Given the description of an element on the screen output the (x, y) to click on. 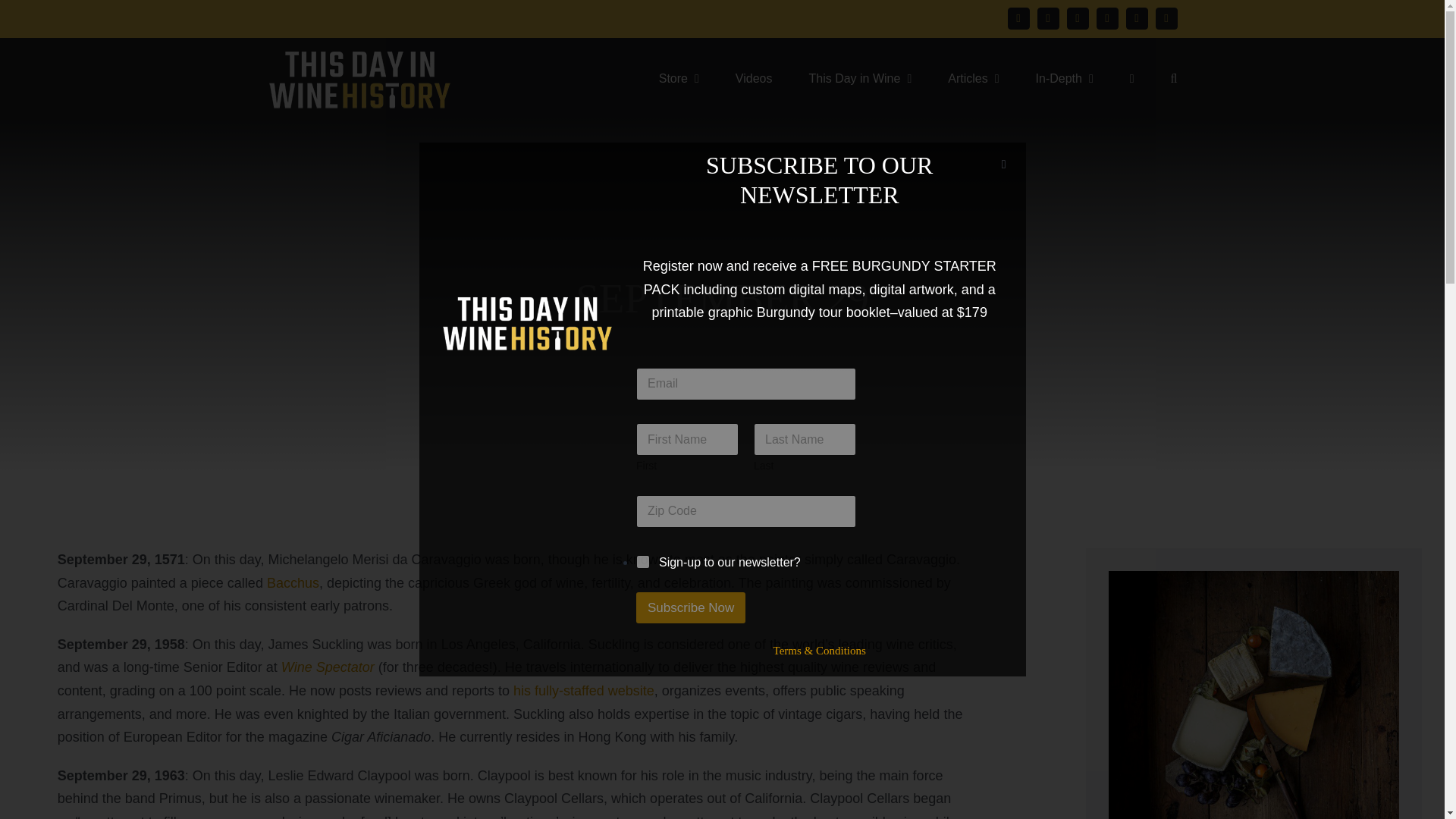
1 (643, 562)
X (1047, 18)
LinkedIn (1166, 18)
YouTube (1136, 18)
Pinterest (1107, 18)
This Day in Wine (859, 77)
Instagram (1076, 18)
Facebook (1018, 18)
YouTube (1136, 18)
Pinterest (1107, 18)
